Given the description of an element on the screen output the (x, y) to click on. 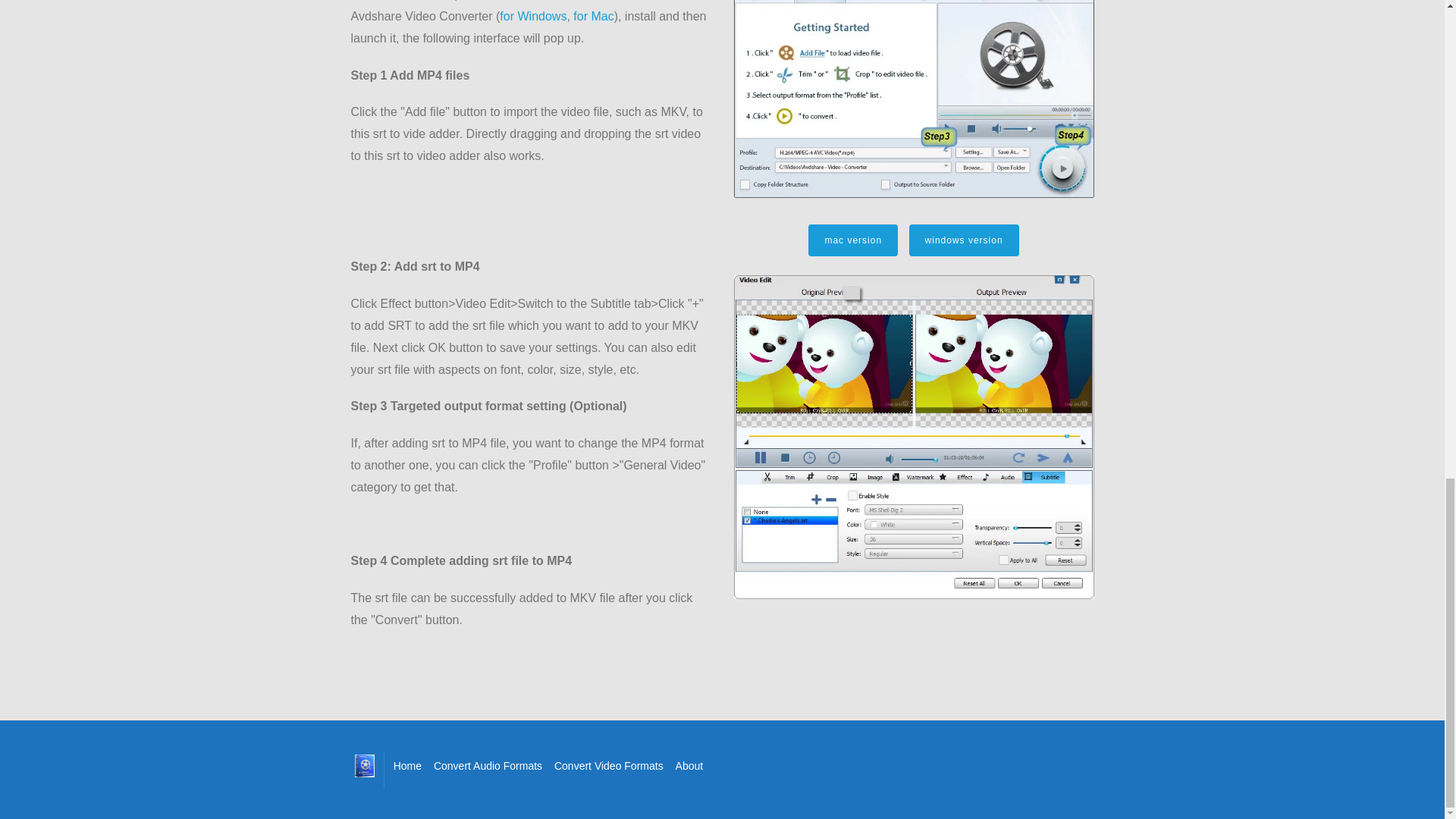
mac version (853, 240)
Convert Audio Formats (487, 765)
About (689, 765)
Home (407, 765)
for Windows (532, 15)
Convert Video Formats (608, 765)
for Mac (592, 15)
windows version (963, 240)
